Given the description of an element on the screen output the (x, y) to click on. 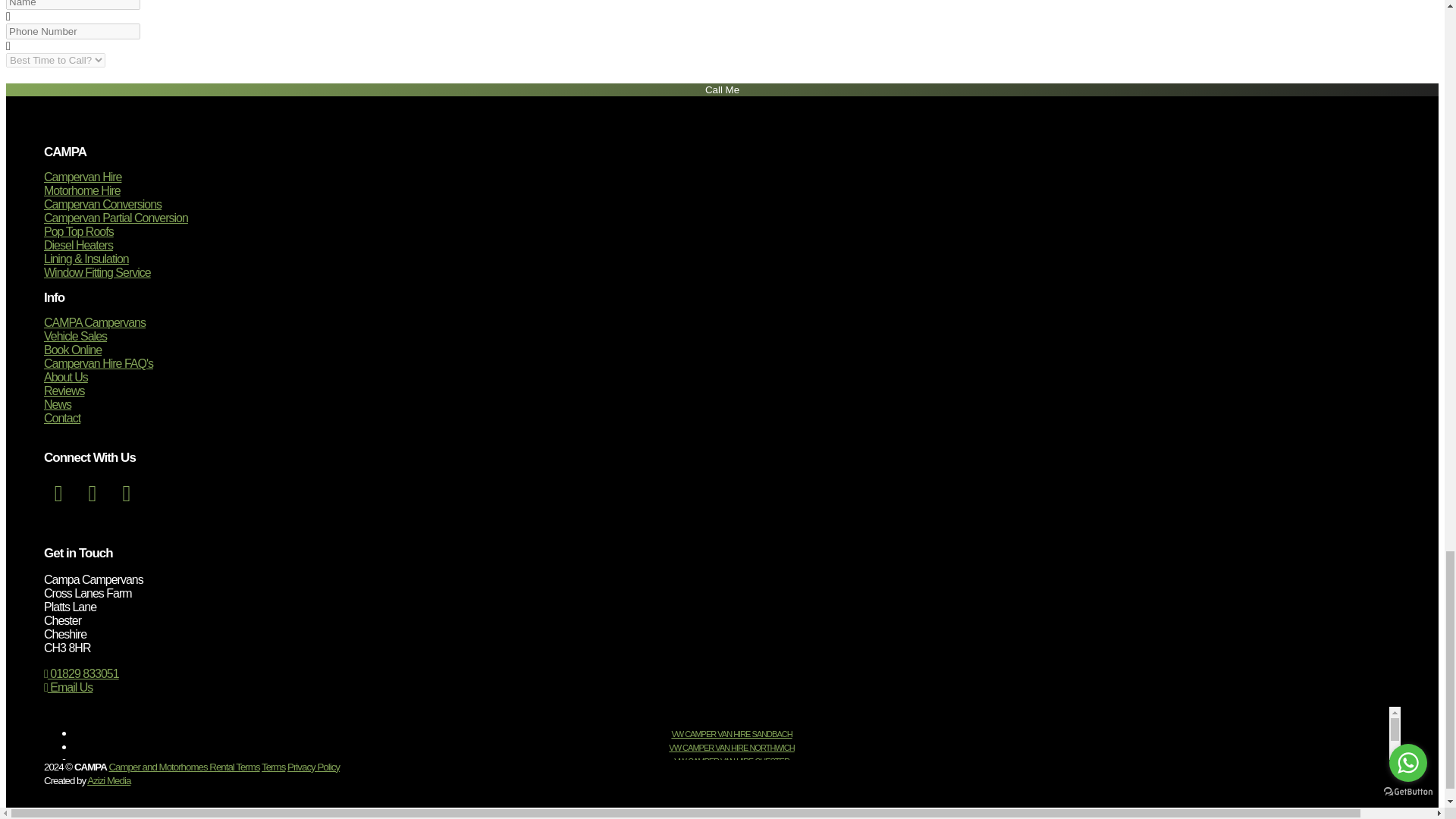
Pop Top Roofs (78, 231)
Campervan Conversions (102, 204)
Motorhome Hire (81, 190)
Campervan Hire (81, 176)
Campervan Partial Conversion (115, 217)
